Given the description of an element on the screen output the (x, y) to click on. 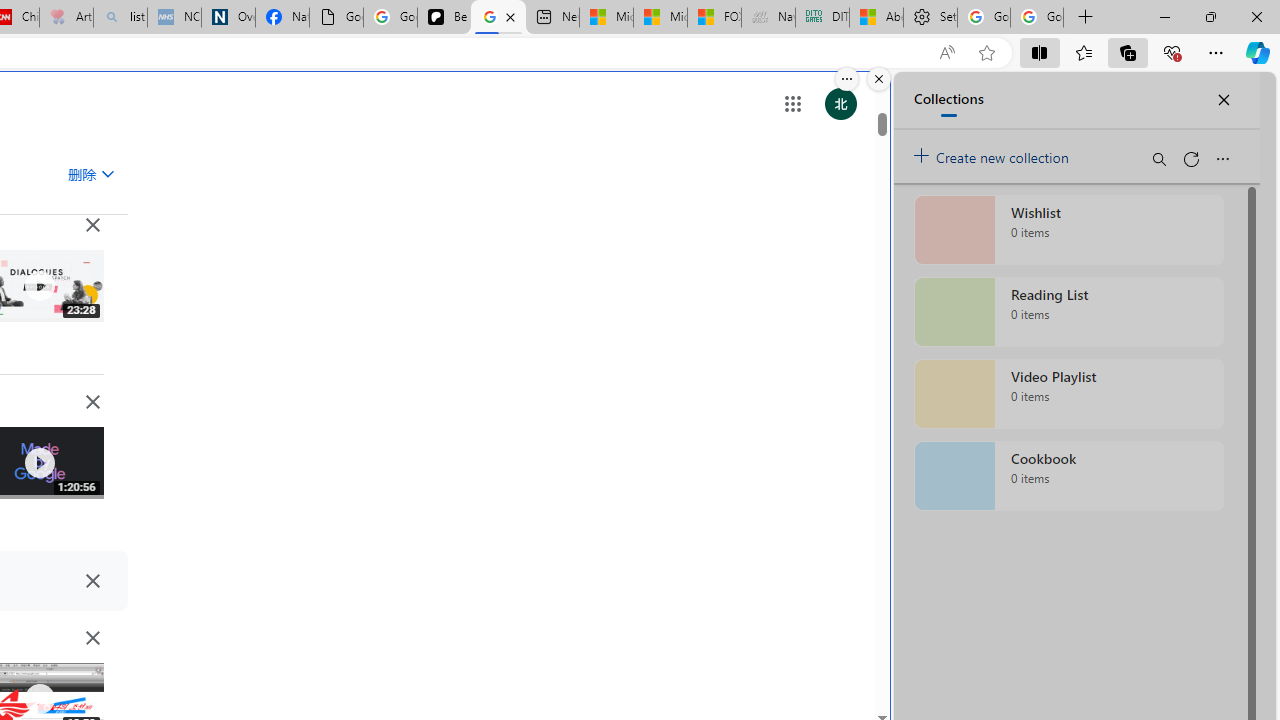
list of asthma inhalers uk - Search - Sleeping (120, 17)
More options. (846, 79)
NCL Adult Asthma Inhaler Choice Guideline - Sleeping (174, 17)
Google Analytics Opt-out Browser Add-on Download Page (336, 17)
